Given the description of an element on the screen output the (x, y) to click on. 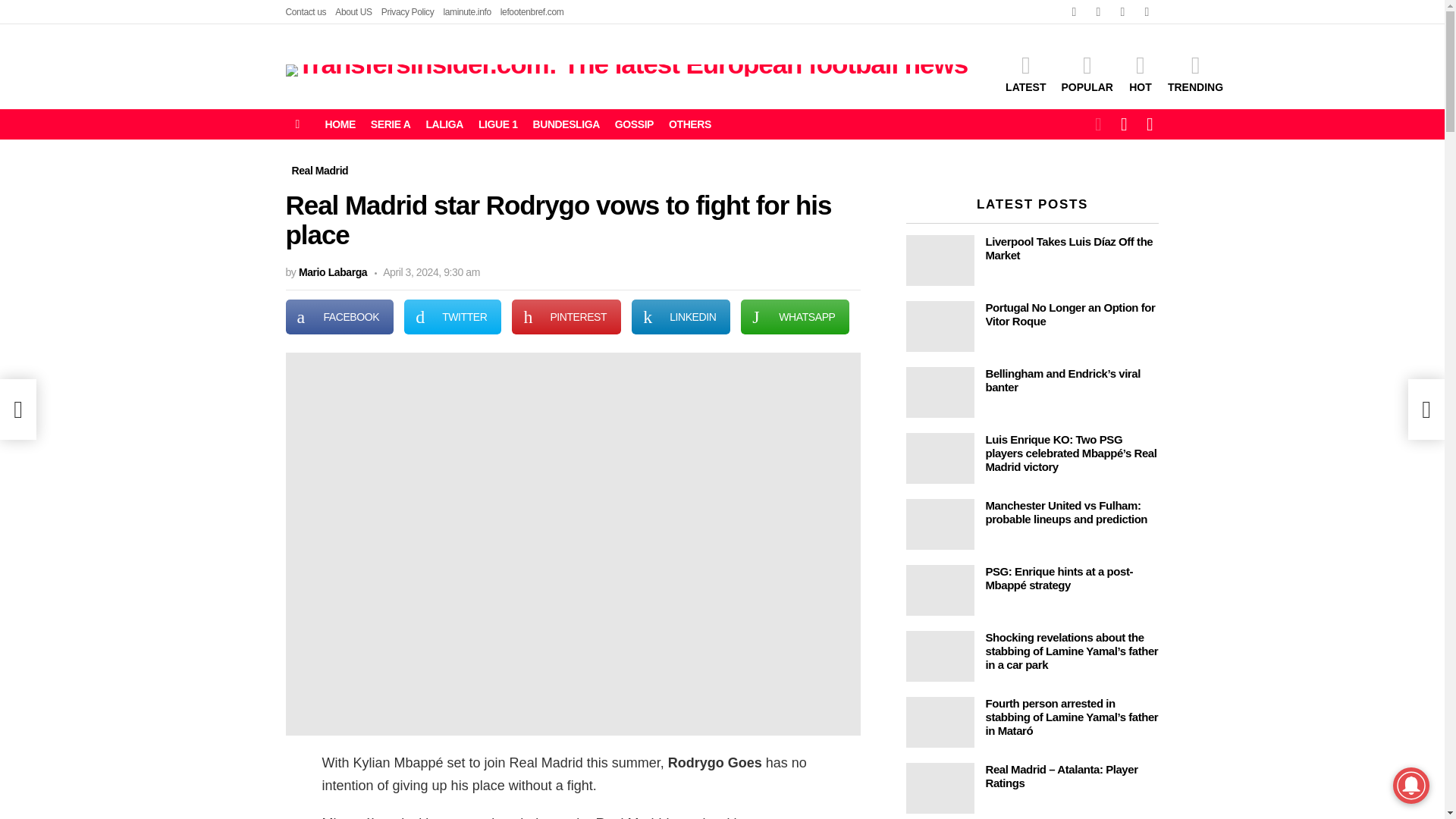
TRENDING (1195, 73)
TWITTER (452, 316)
FACEBOOK (339, 316)
Privacy Policy (407, 12)
twitter (1097, 11)
Posts by Mario Labarga (332, 272)
About US (352, 12)
GOSSIP (634, 124)
LALIGA (443, 124)
LIGUE 1 (497, 124)
